Given the description of an element on the screen output the (x, y) to click on. 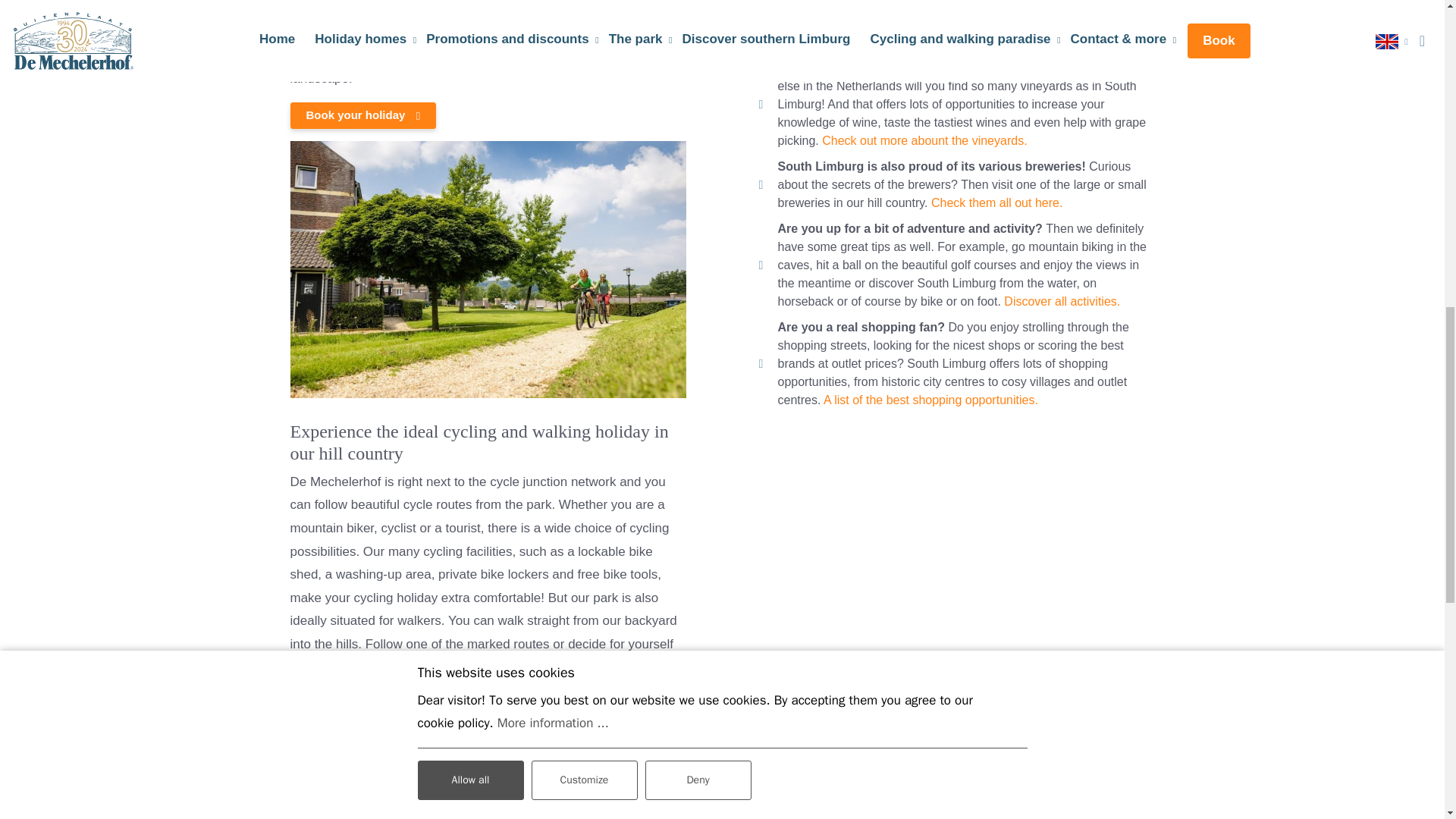
Beer breweries Limburg (996, 202)
